Given the description of an element on the screen output the (x, y) to click on. 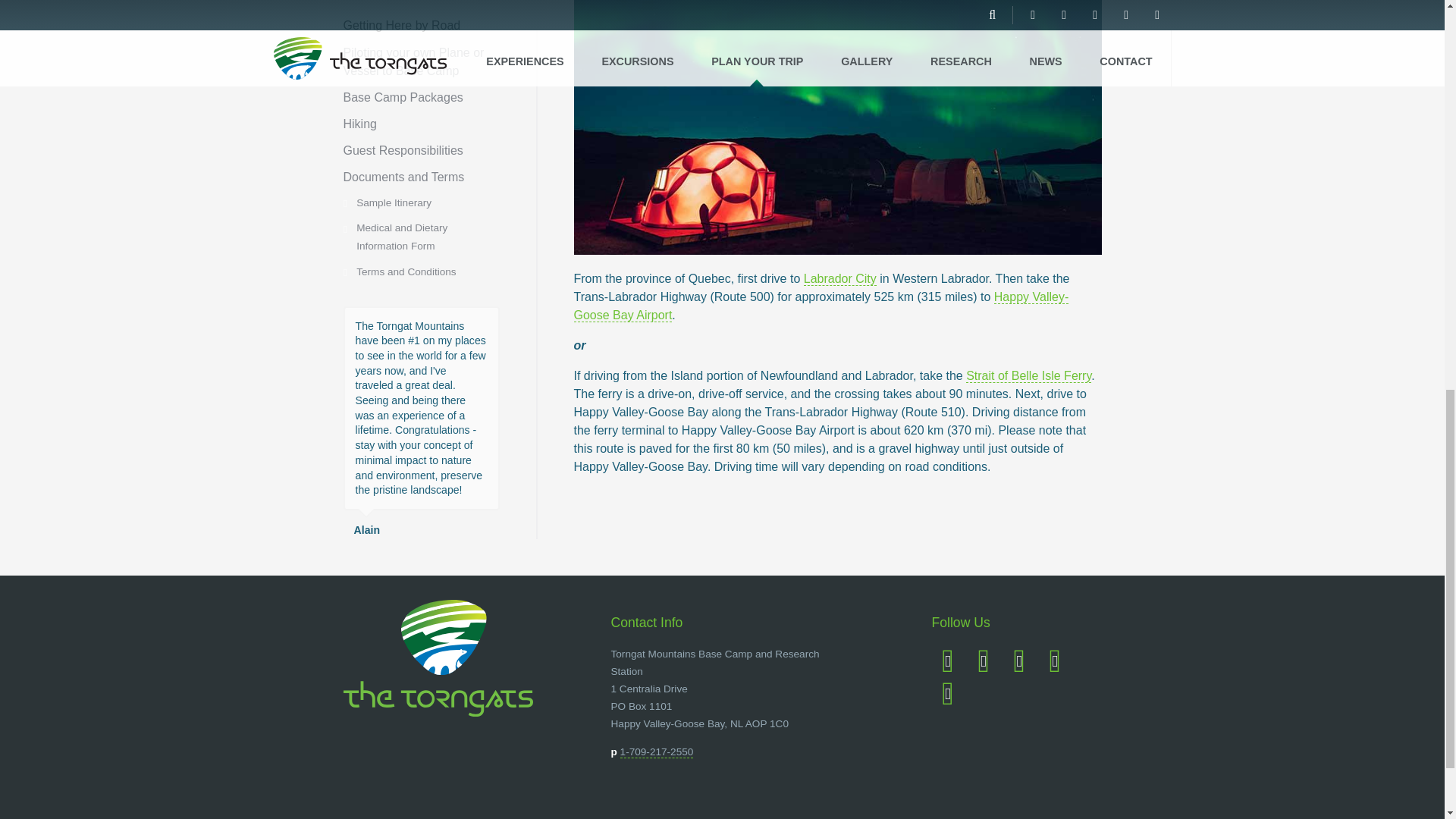
Guest Responsibilities (402, 150)
Piloting your own Plane or Vessel to Base Camp (412, 60)
Base Camp Packages (402, 97)
Getting Here by Road (401, 24)
Strait of Belle Isle Ferry (1028, 376)
Hiking (358, 123)
Happy Valley-Goose Bay Airport (820, 306)
Labrador City (839, 278)
Documents and Terms (403, 176)
